Given the description of an element on the screen output the (x, y) to click on. 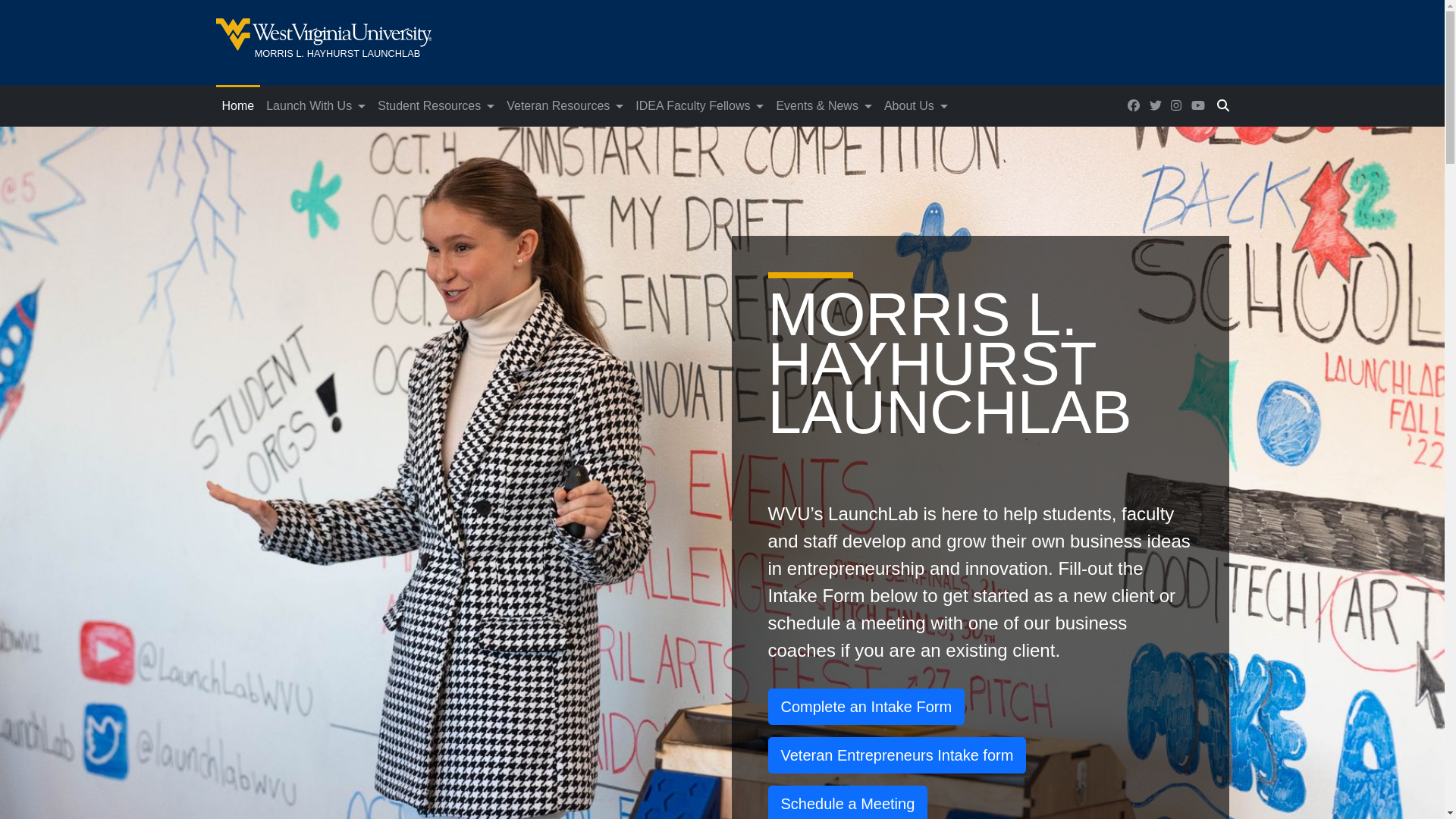
Twitter (1155, 105)
About Us (915, 105)
Launch With Us (315, 105)
Home (237, 105)
YouTube (1197, 105)
Facebook (1133, 105)
Veteran Resources (564, 105)
Student Resources (435, 105)
IDEA Faculty Fellows (550, 42)
